Given the description of an element on the screen output the (x, y) to click on. 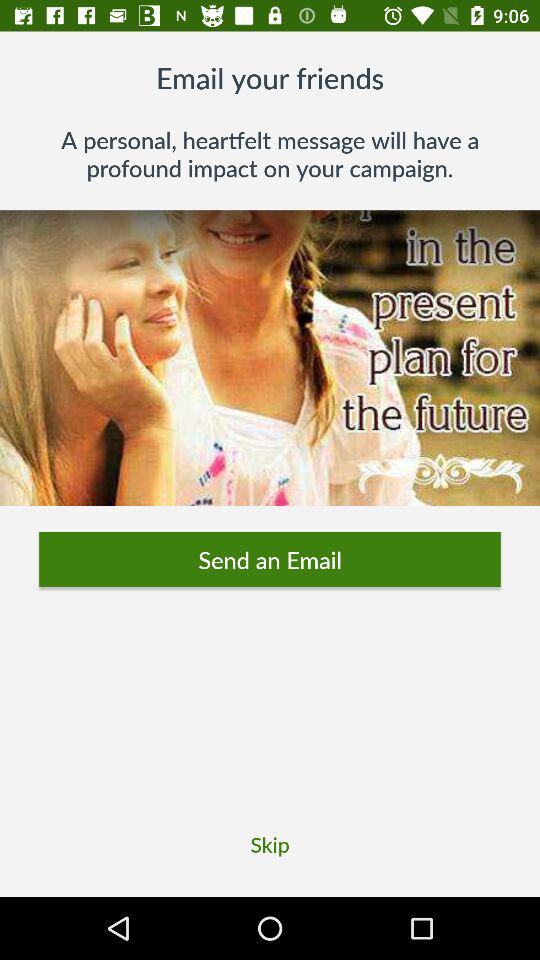
turn on icon below the send an email item (270, 844)
